Given the description of an element on the screen output the (x, y) to click on. 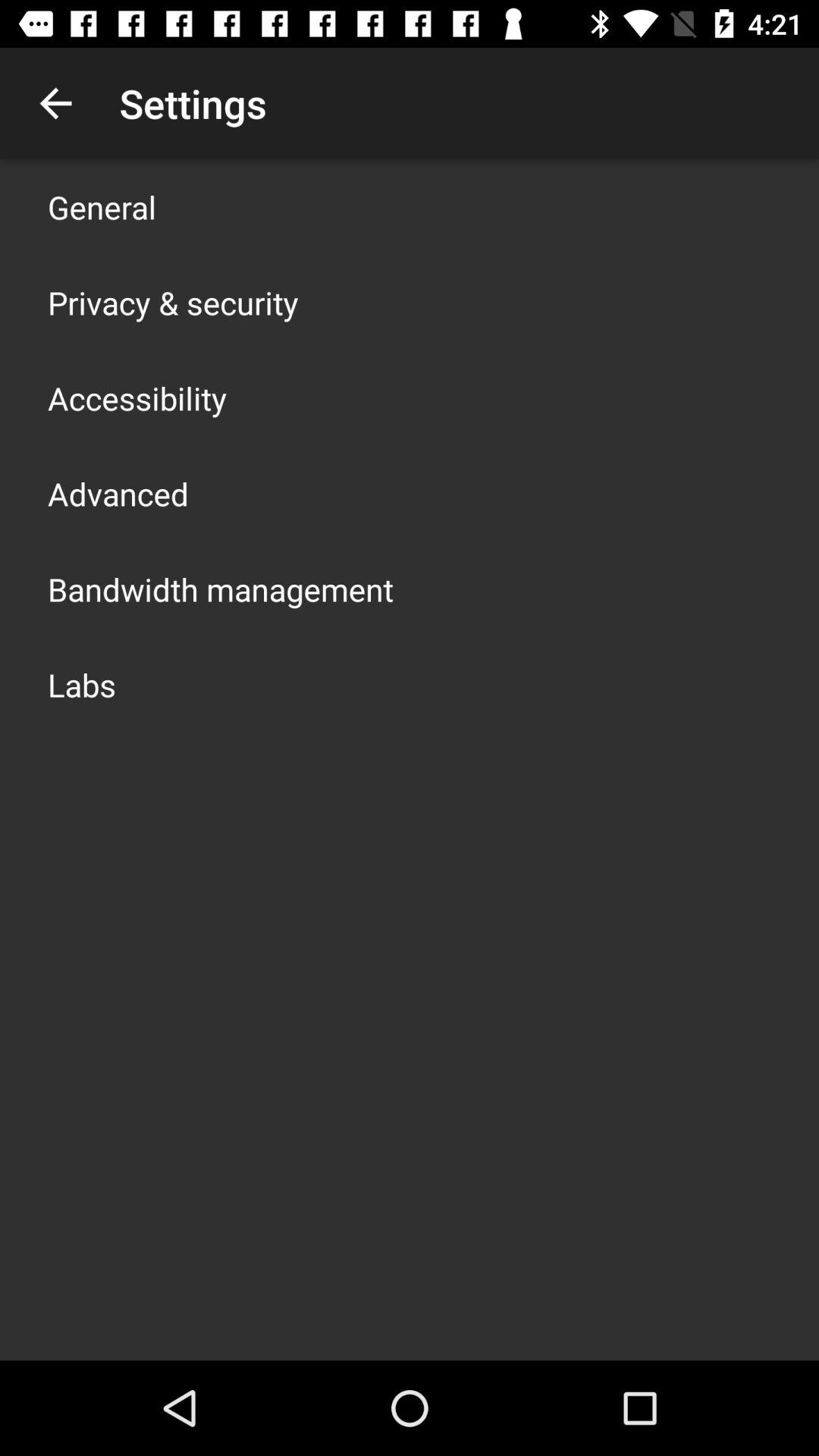
scroll to the general item (101, 206)
